Given the description of an element on the screen output the (x, y) to click on. 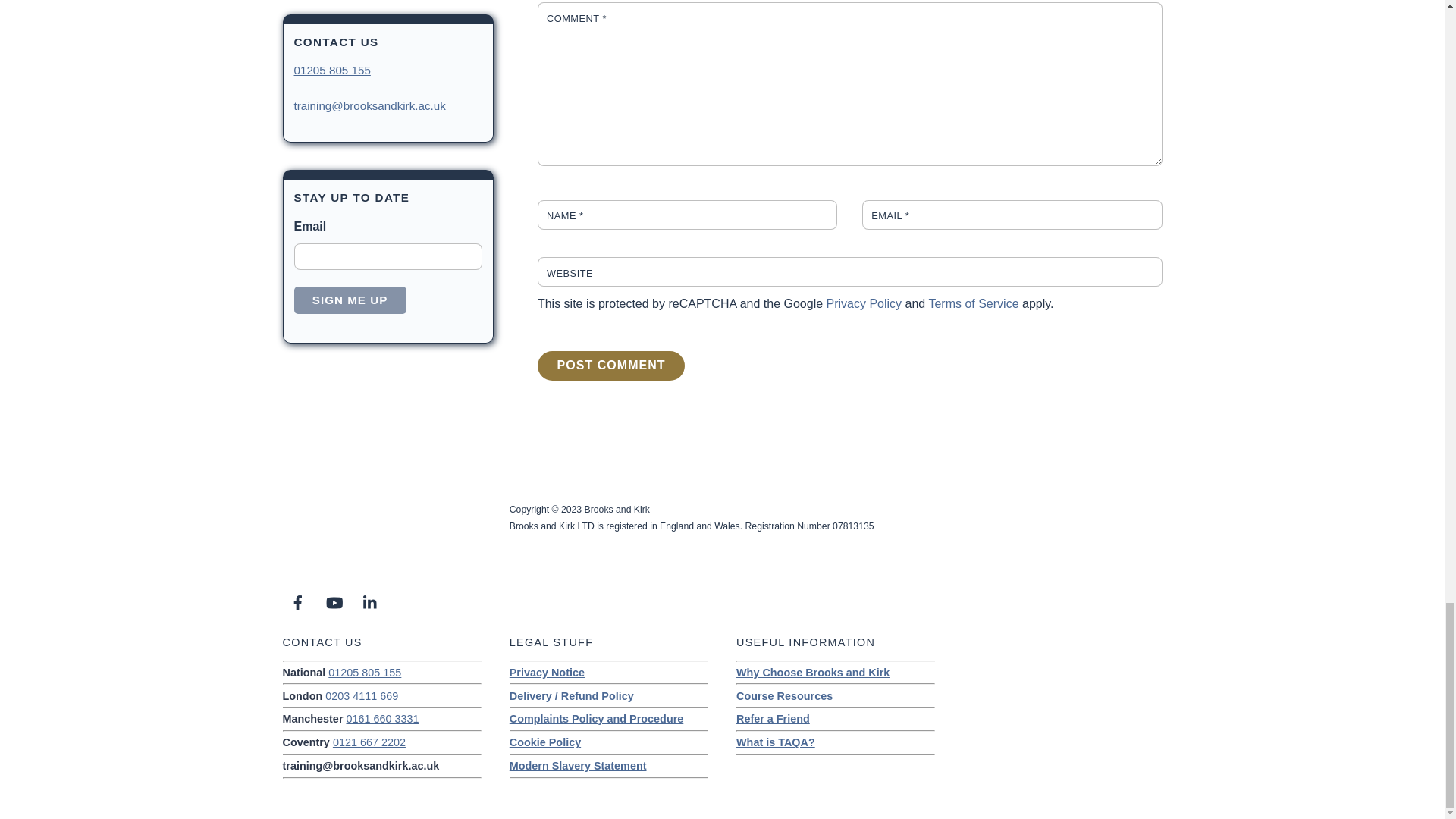
Post Comment (610, 365)
Brooks and Kirk (327, 563)
